Given the description of an element on the screen output the (x, y) to click on. 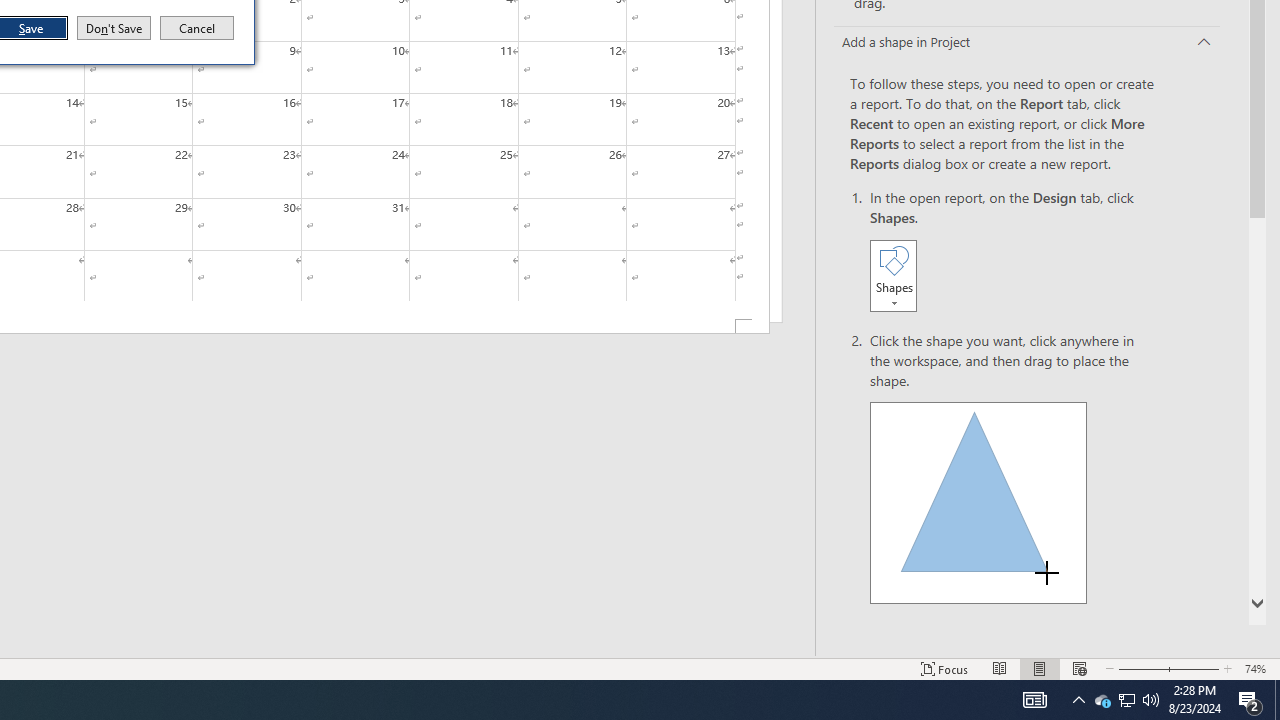
Focus  (944, 668)
Don't Save (113, 27)
Cancel (197, 27)
Show desktop (1277, 699)
In the open report, on the Design tab, click Shapes. (1012, 251)
Zoom Out (1135, 668)
